Given the description of an element on the screen output the (x, y) to click on. 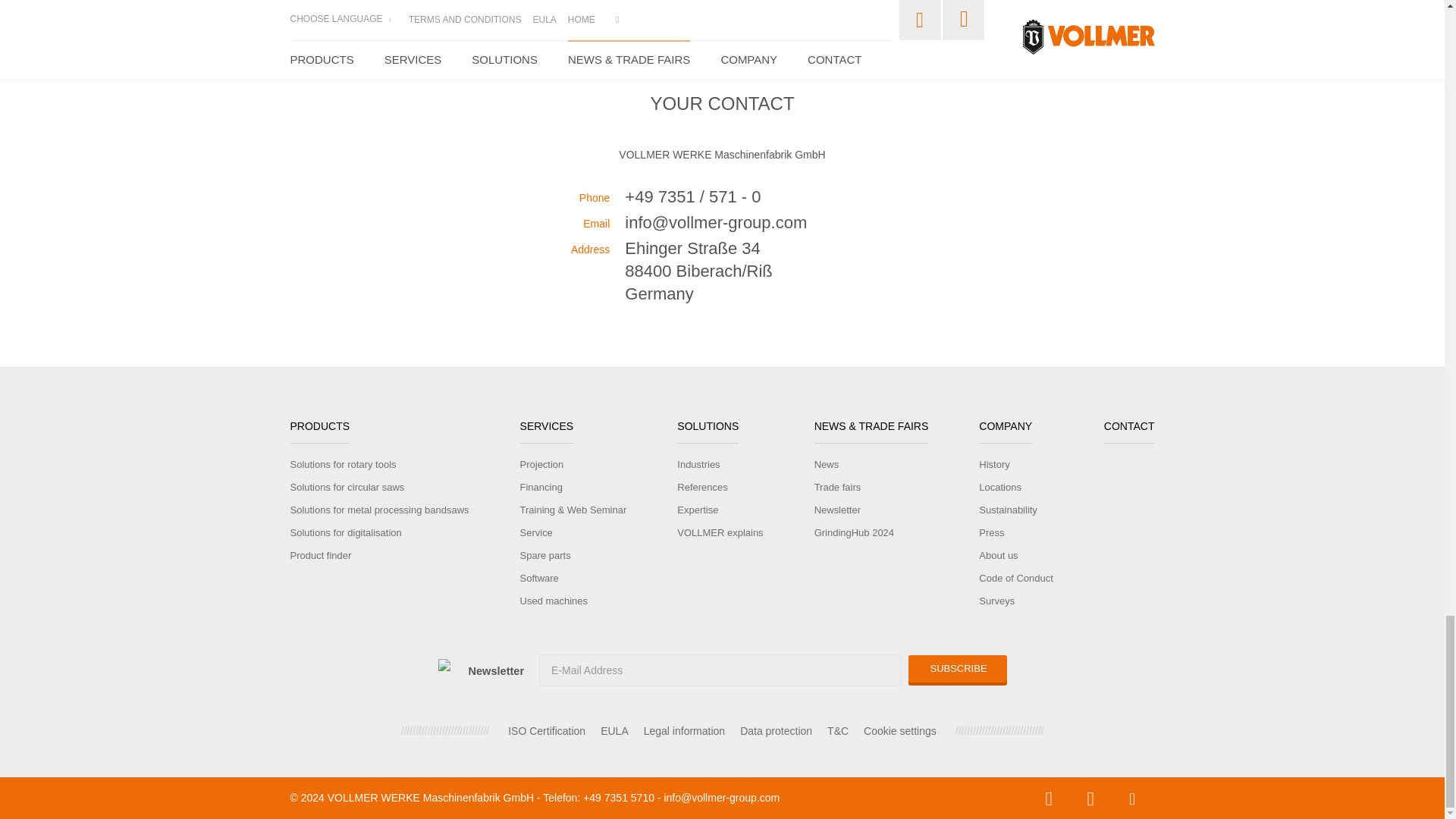
subscribe (957, 668)
